Given the description of an element on the screen output the (x, y) to click on. 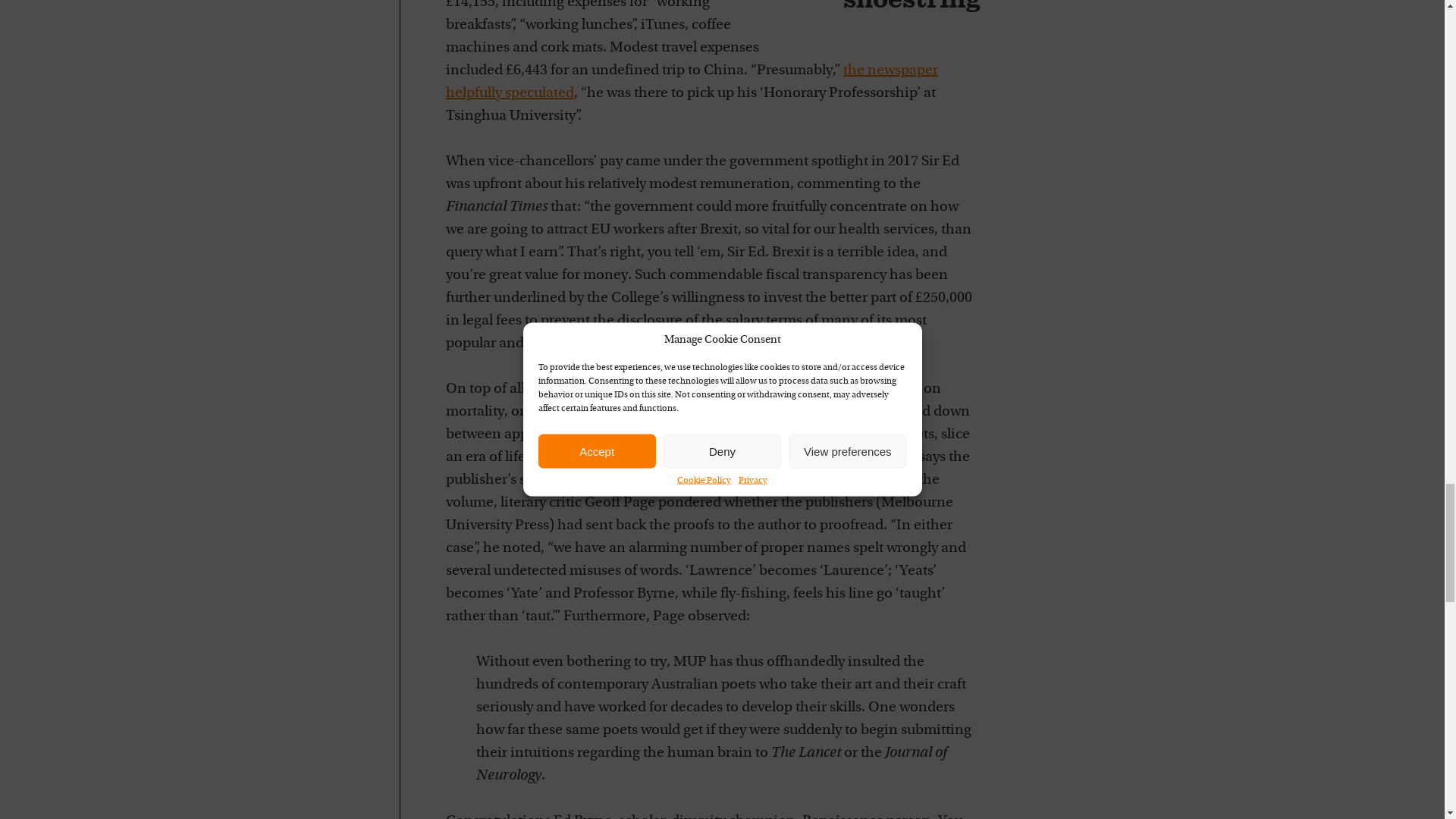
the newspaper helpfully speculated (691, 81)
